Given the description of an element on the screen output the (x, y) to click on. 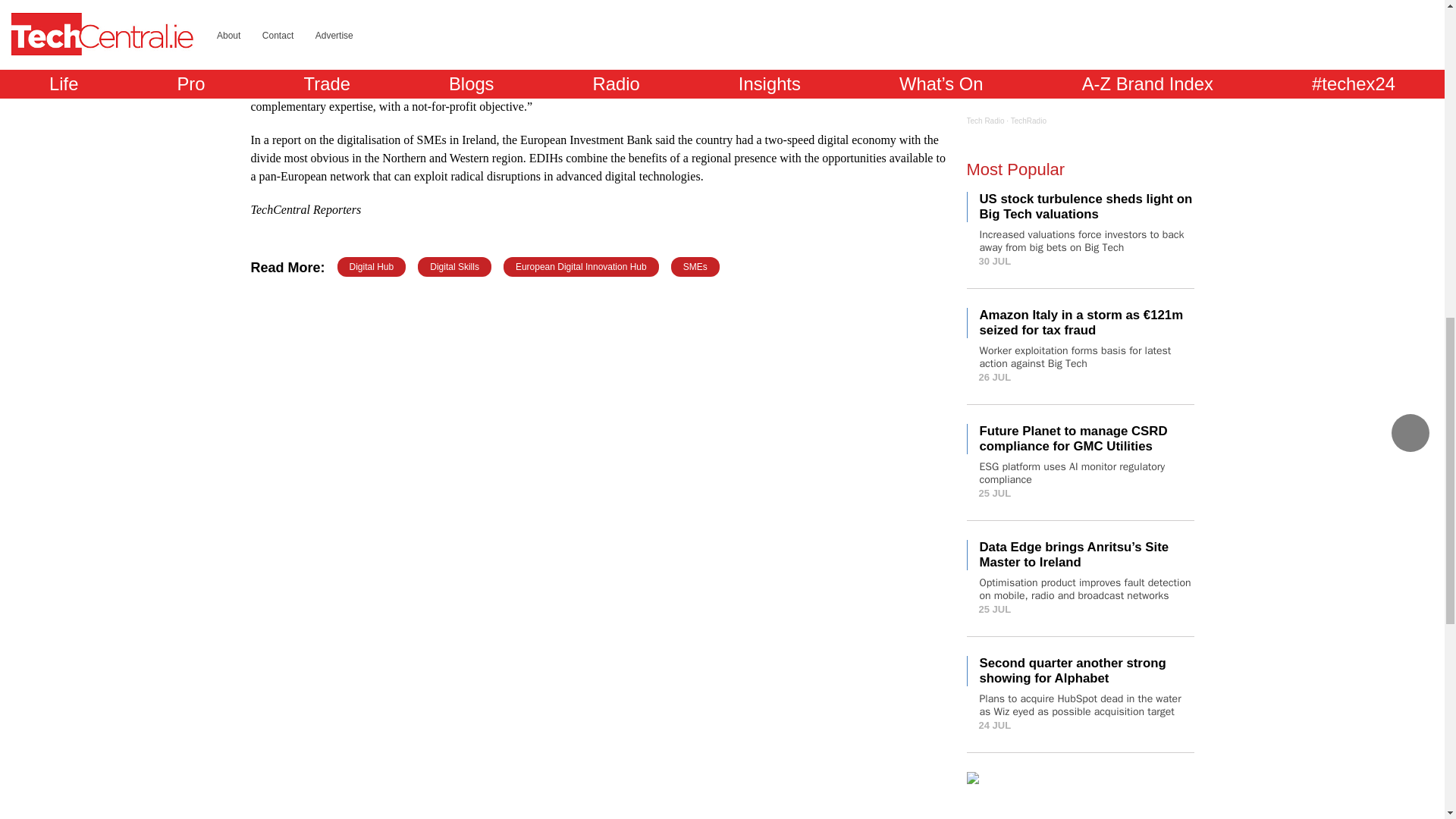
TechRadio (1028, 121)
Tech Radio (985, 121)
